Given the description of an element on the screen output the (x, y) to click on. 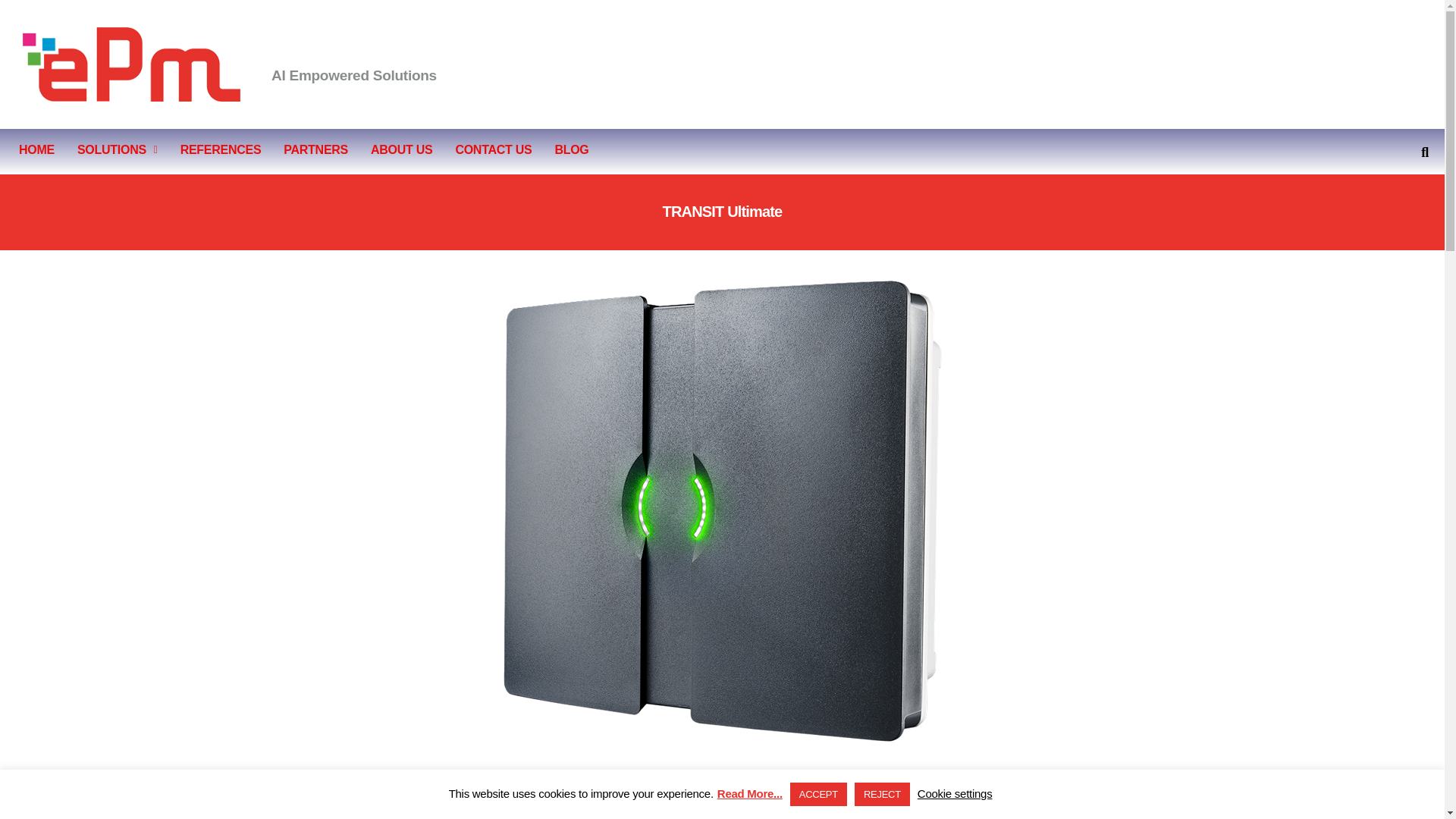
Search (1417, 151)
